Given the description of an element on the screen output the (x, y) to click on. 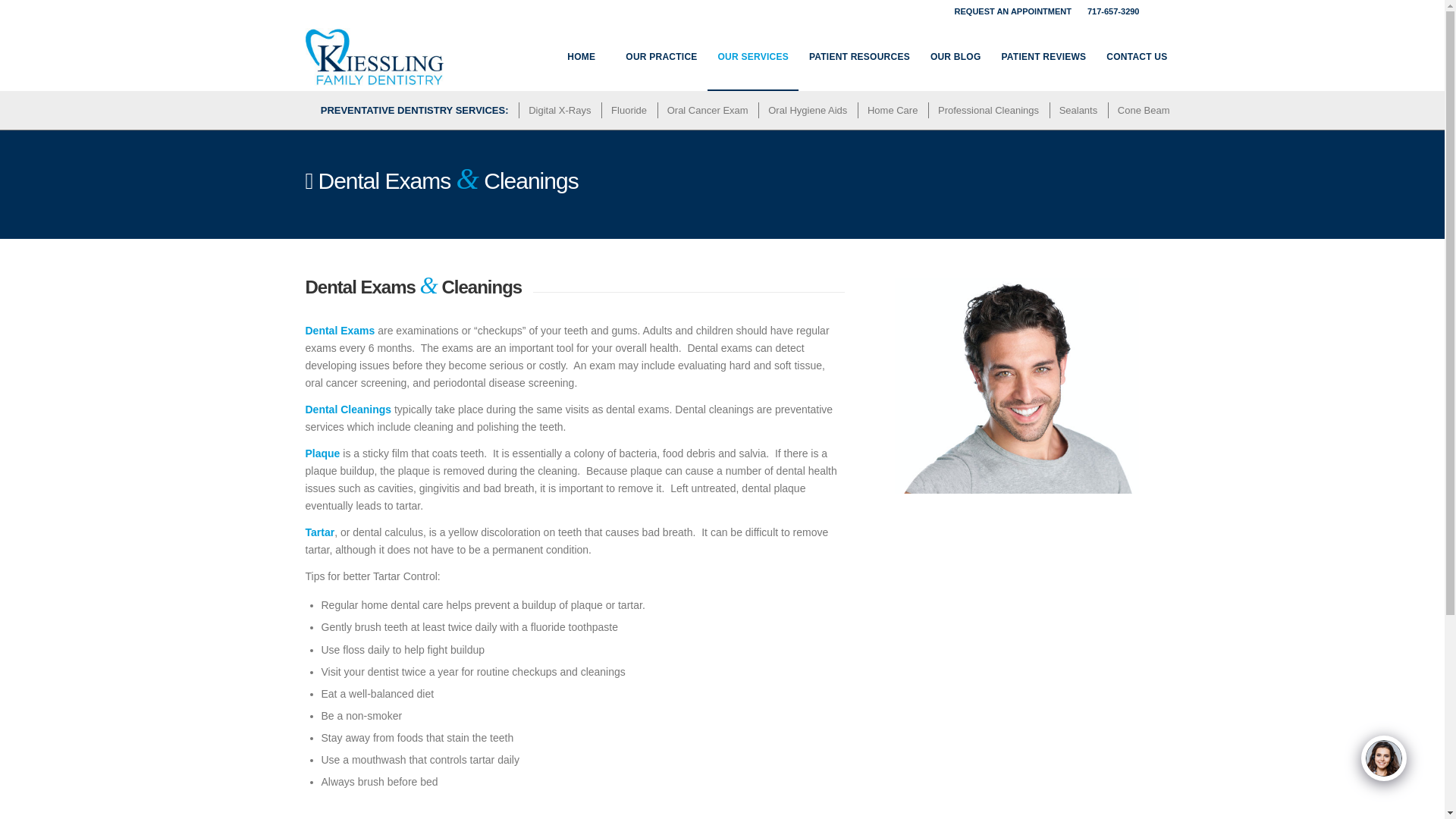
HOME (580, 56)
717-657-3290 (1113, 11)
OUR PRACTICE (660, 56)
OUR SERVICES (752, 56)
Kiessling Family Dentistry Logo (374, 56)
Chat with us! (1383, 768)
REQUEST AN APPOINTMENT (1013, 11)
Man Smiling with Clean Healthy Teeth (1017, 385)
